Given the description of an element on the screen output the (x, y) to click on. 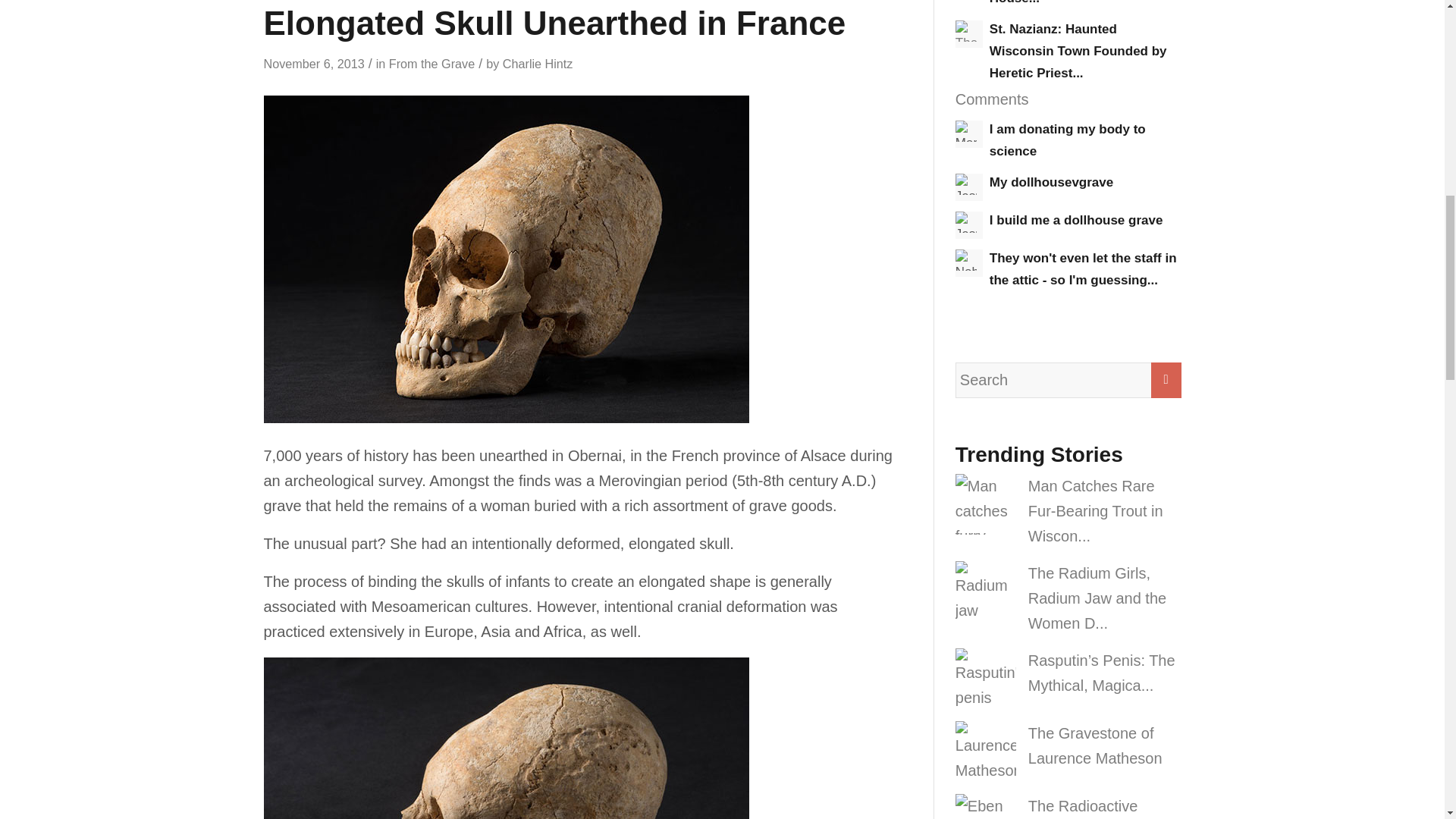
Charlie Hintz (537, 63)
From the Grave (431, 63)
Posts by Charlie Hintz (537, 63)
